Given the description of an element on the screen output the (x, y) to click on. 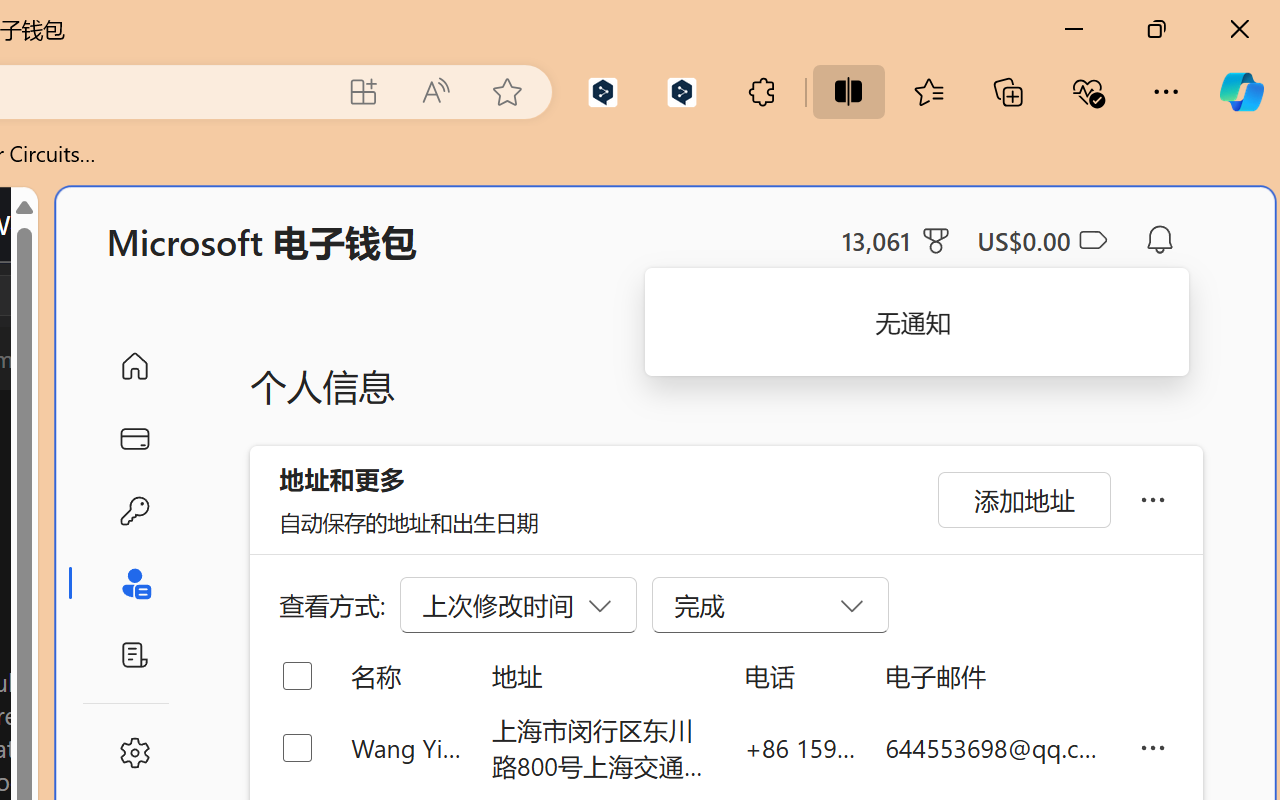
644553698@qq.com (996, 747)
Class: ___1lmltc5 f1agt3bx f12qytpq (1092, 241)
